Given the description of an element on the screen output the (x, y) to click on. 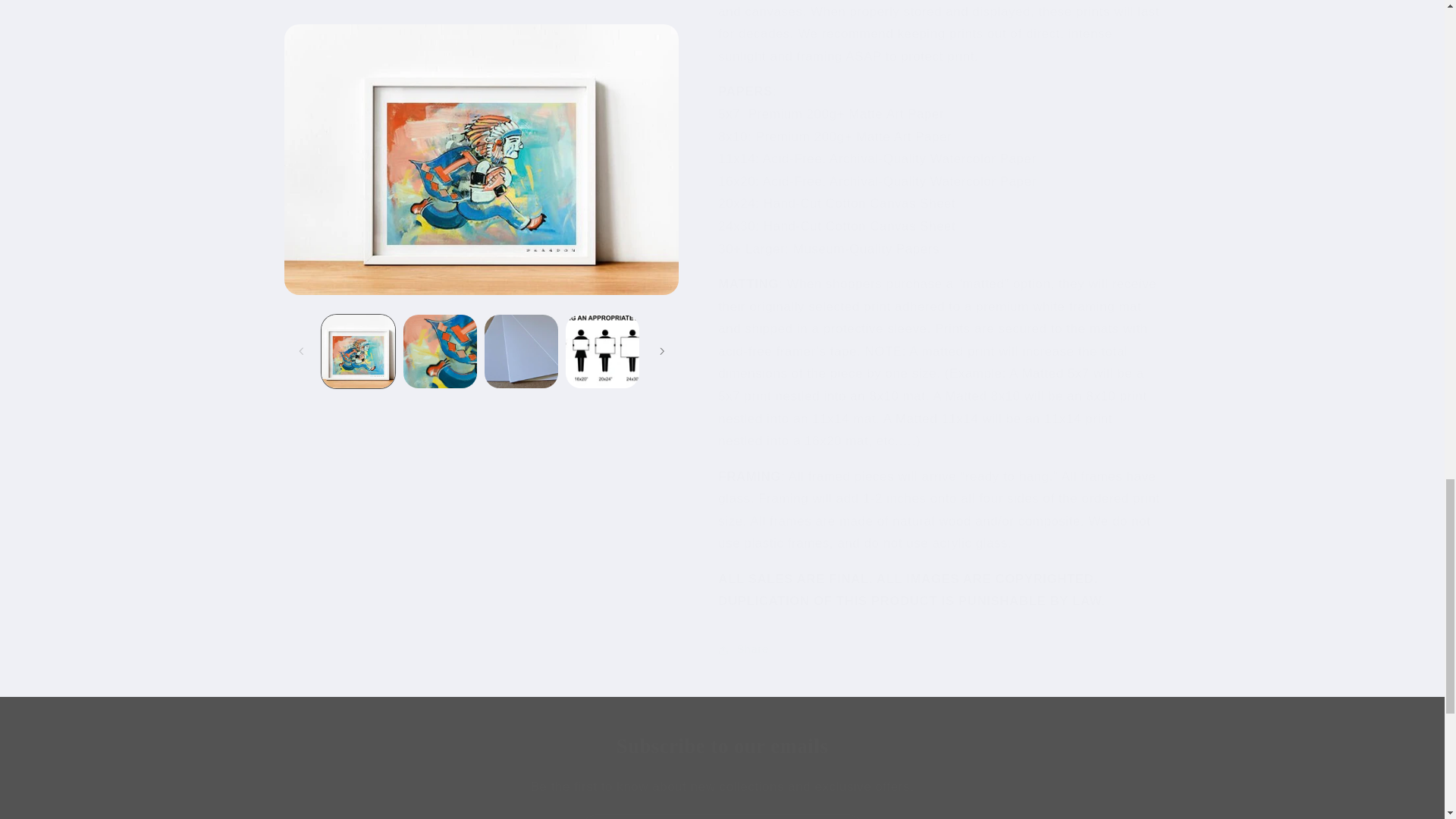
Email (722, 816)
Subscribe to our emails (722, 746)
